Given the description of an element on the screen output the (x, y) to click on. 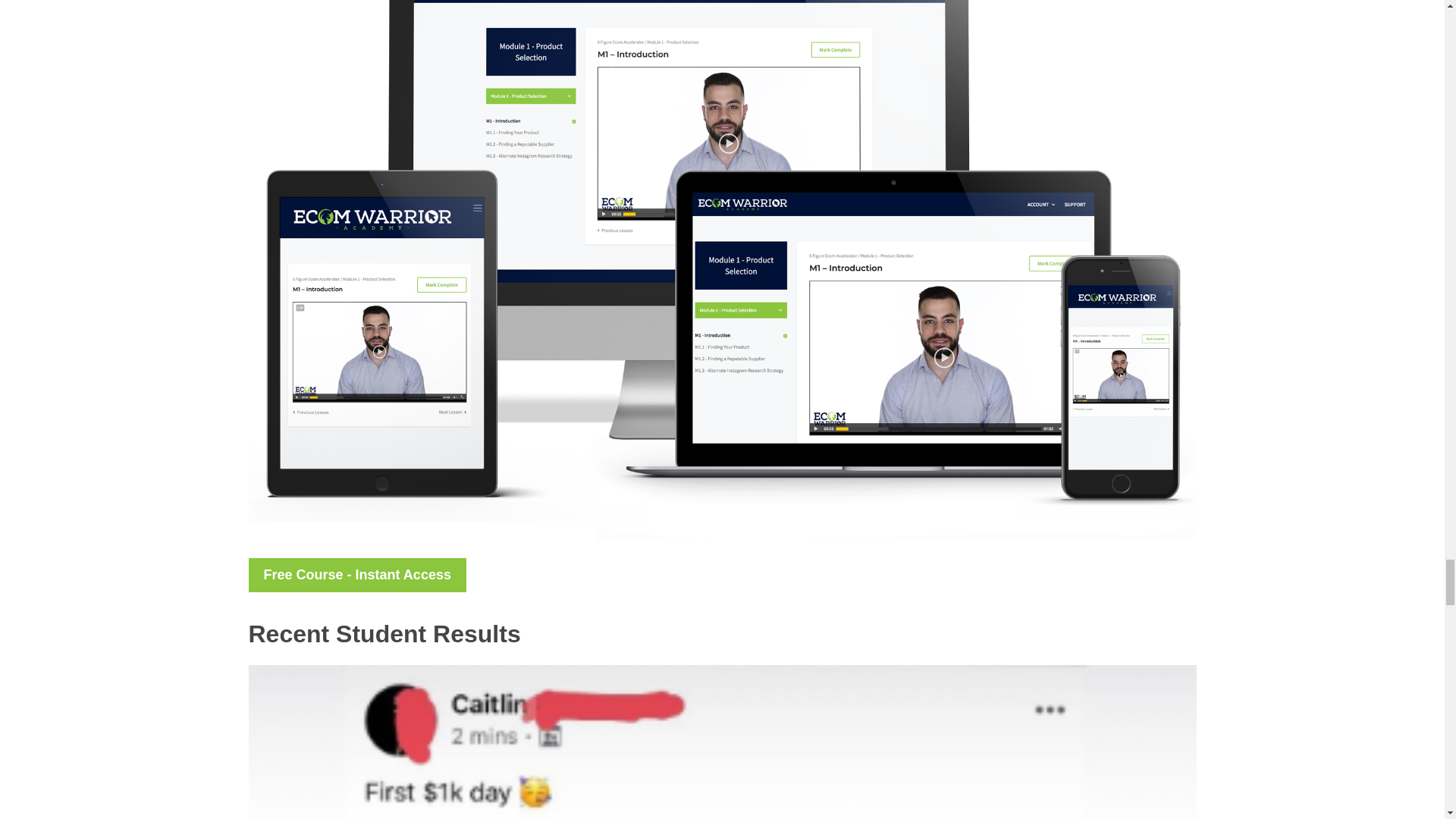
Free Course - Instant Access (356, 574)
